Given the description of an element on the screen output the (x, y) to click on. 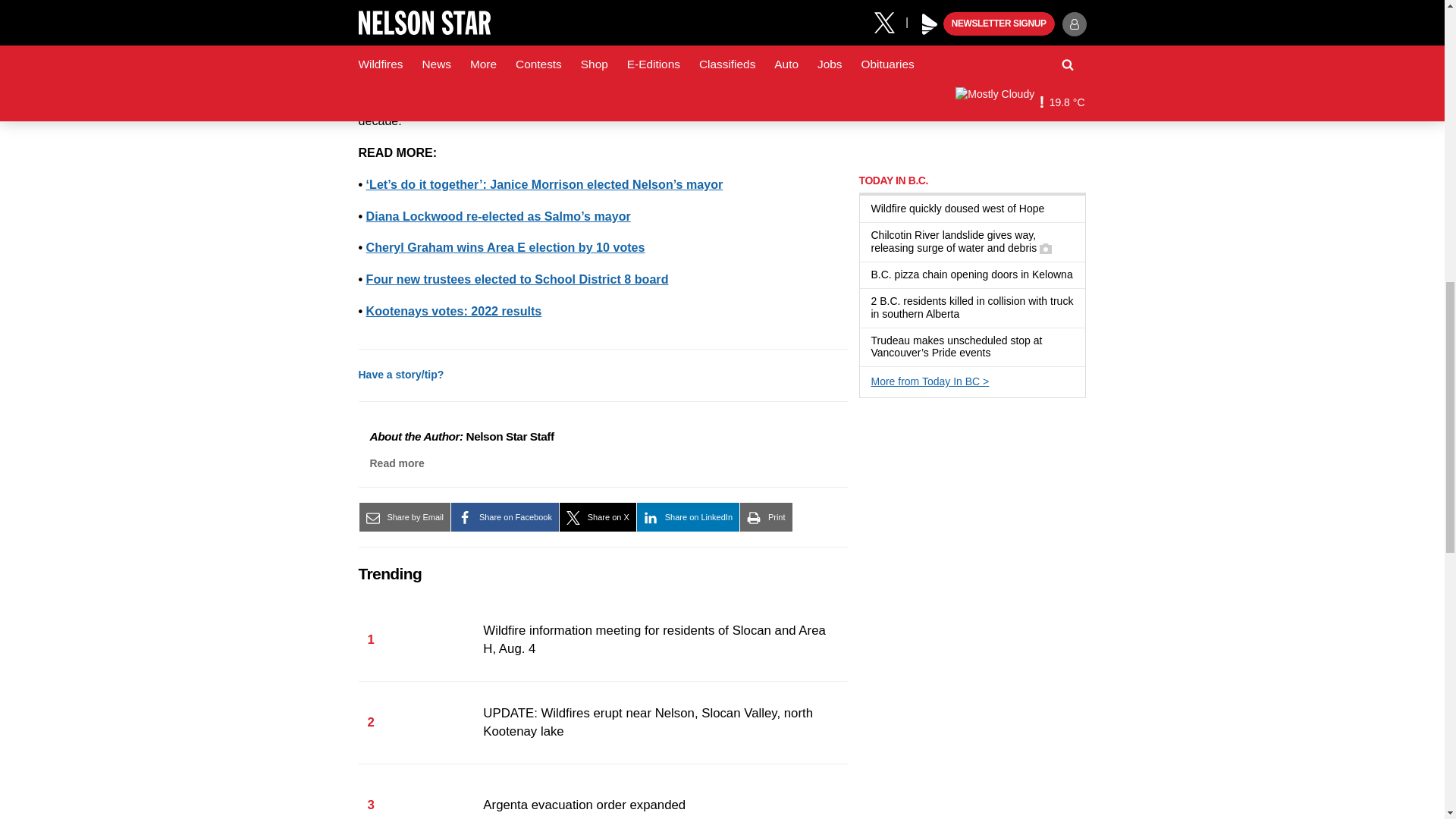
Has a gallery (1045, 248)
